Given the description of an element on the screen output the (x, y) to click on. 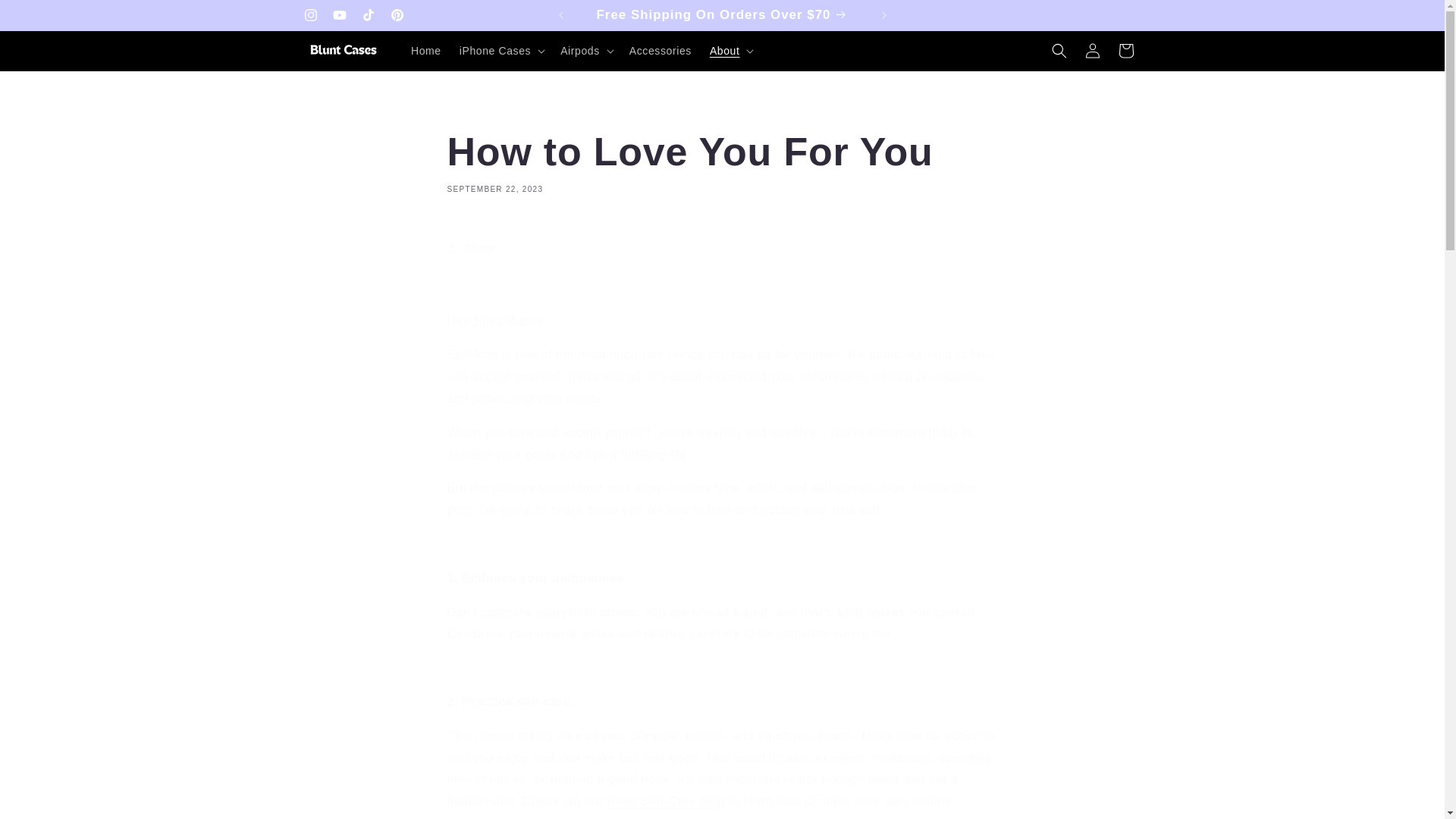
Instagram (309, 14)
Skip to content (45, 17)
YouTube (338, 14)
Share (721, 248)
Pinterest (721, 160)
TikTok (395, 14)
